Given the description of an element on the screen output the (x, y) to click on. 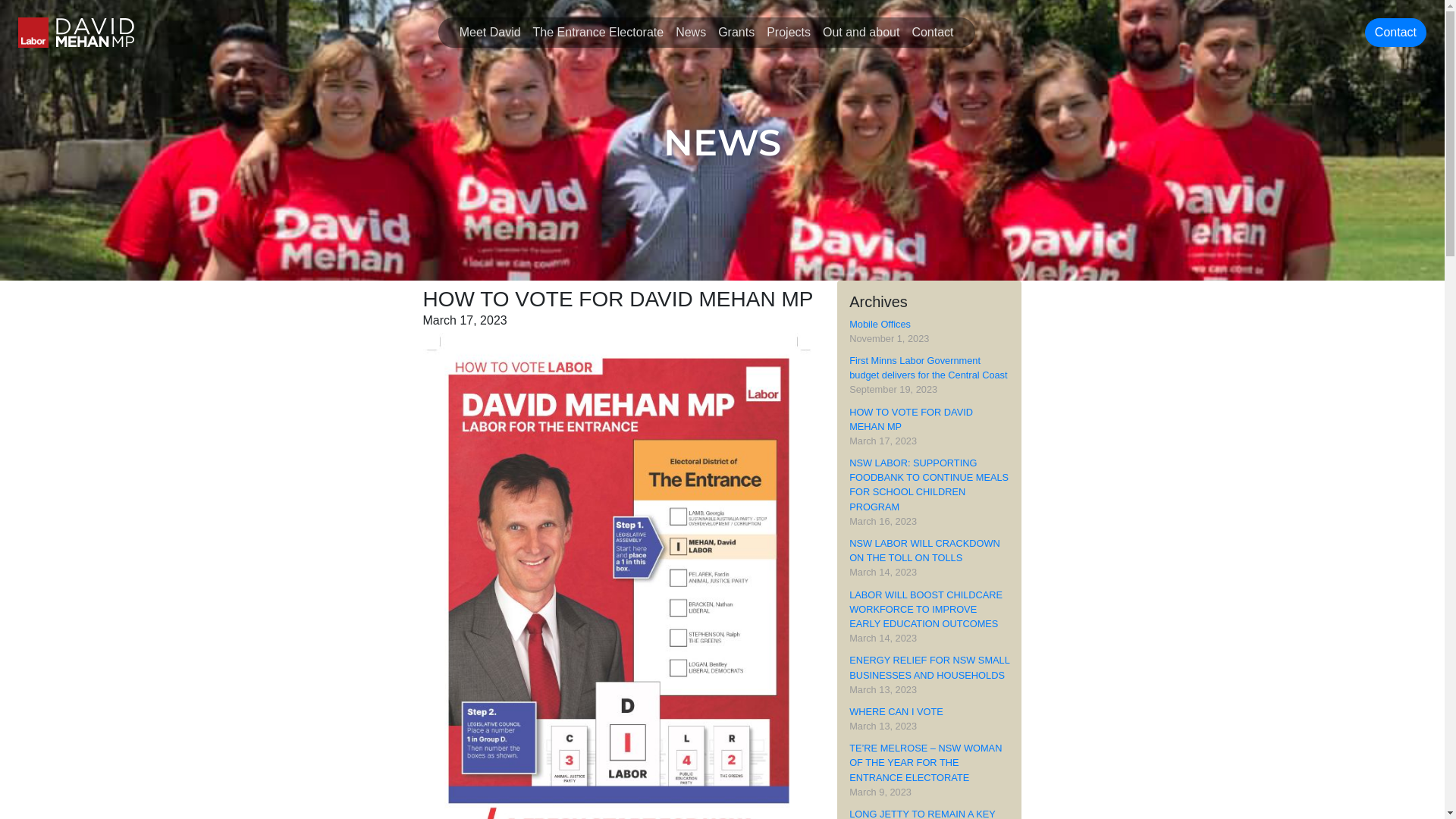
Contact Element type: text (932, 32)
NSW LABOR WILL CRACKDOWN ON THE TOLL ON TOLLS Element type: text (924, 550)
HOW TO VOTE FOR DAVID MEHAN MP Element type: text (910, 419)
The Entrance Electorate Element type: text (598, 32)
News Element type: text (690, 32)
Contact Element type: text (1395, 32)
ENERGY RELIEF FOR NSW SMALL BUSINESSES AND HOUSEHOLDS Element type: text (929, 667)
Projects Element type: text (788, 32)
Mobile Offices Element type: text (879, 323)
Meet David Element type: text (490, 32)
Out and about Element type: text (860, 32)
Grants Element type: text (736, 32)
Contact Element type: text (1395, 31)
WHERE CAN I VOTE Element type: text (896, 711)
